Given the description of an element on the screen output the (x, y) to click on. 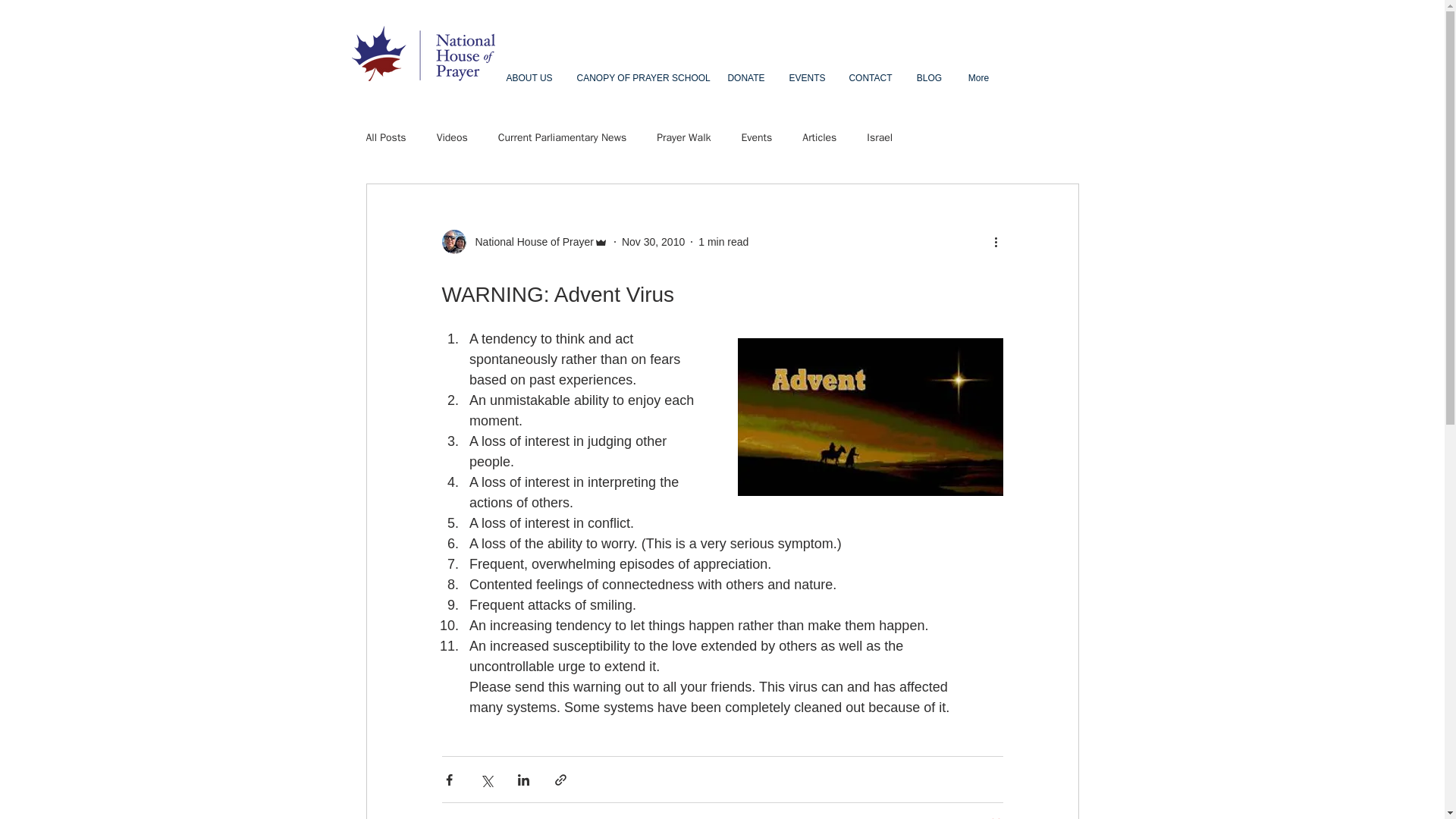
National House of Prayer (528, 241)
Nov 30, 2010 (652, 241)
Prayer Walk (683, 137)
BLOG (928, 78)
DONATE (745, 78)
Events (756, 137)
ABOUT US (528, 78)
Current Parliamentary News (561, 137)
Videos (451, 137)
All Posts (385, 137)
